Given the description of an element on the screen output the (x, y) to click on. 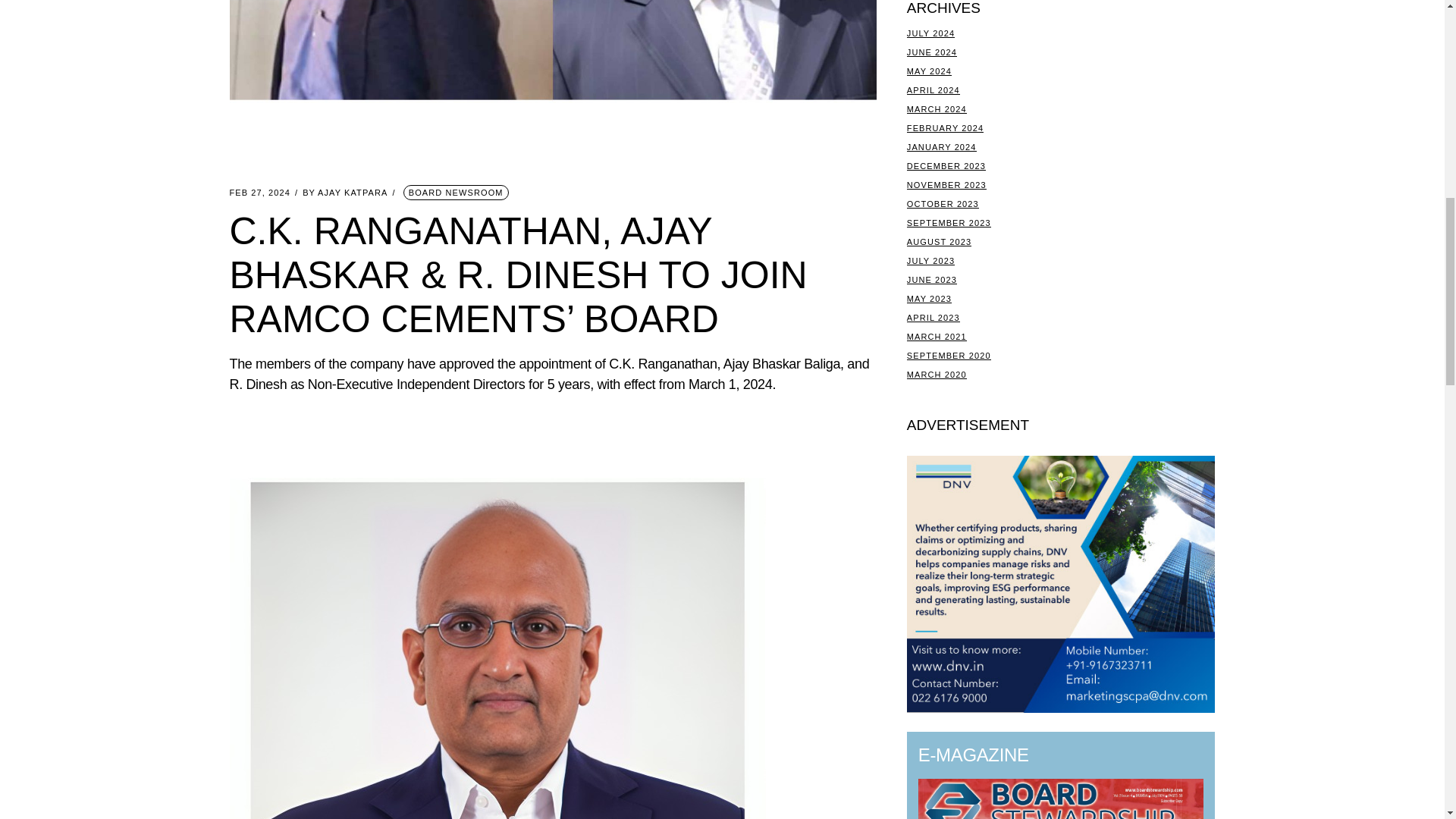
Advertisement (1061, 583)
